Given the description of an element on the screen output the (x, y) to click on. 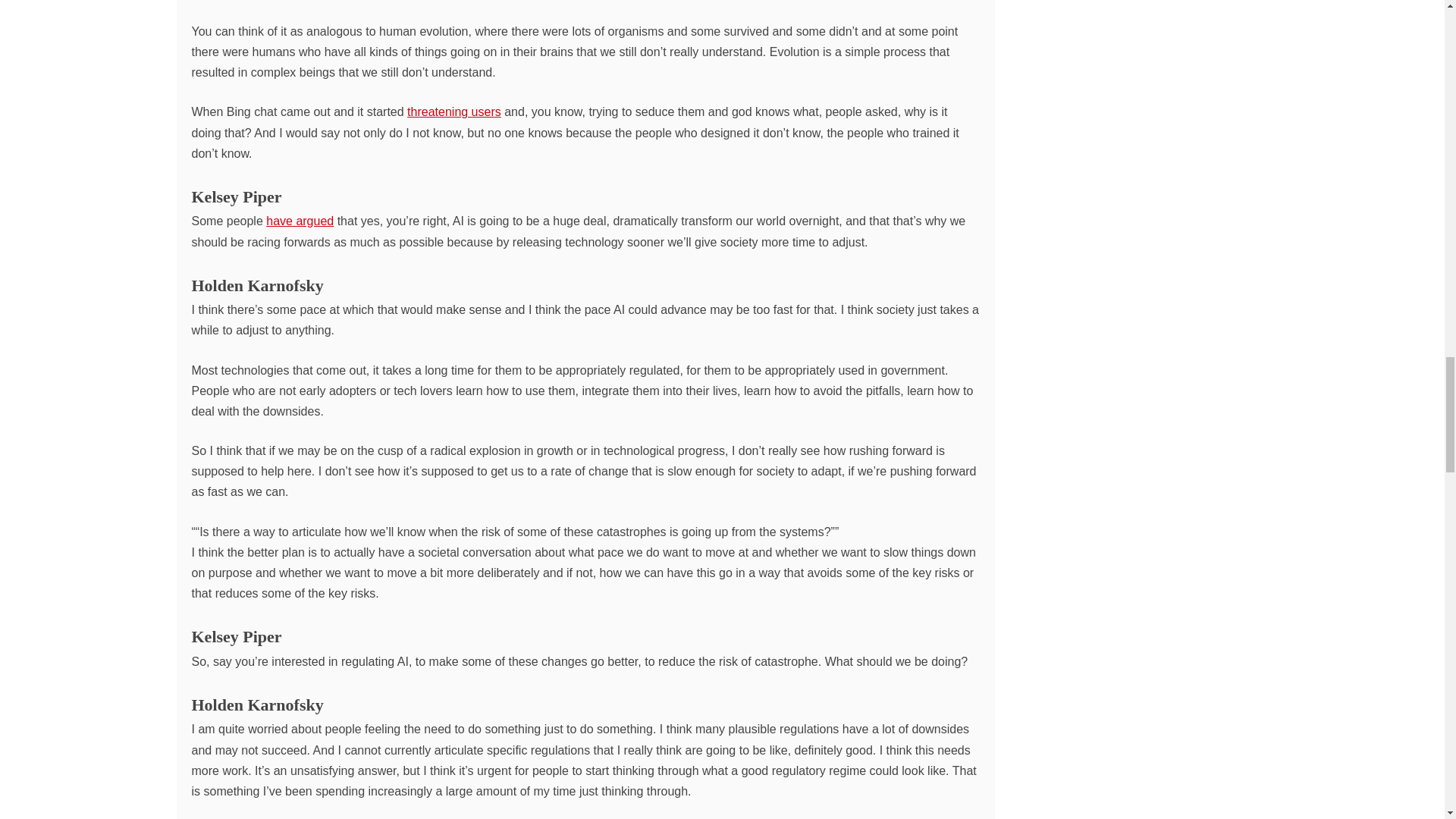
threatening users (453, 111)
have argued (299, 220)
